Given the description of an element on the screen output the (x, y) to click on. 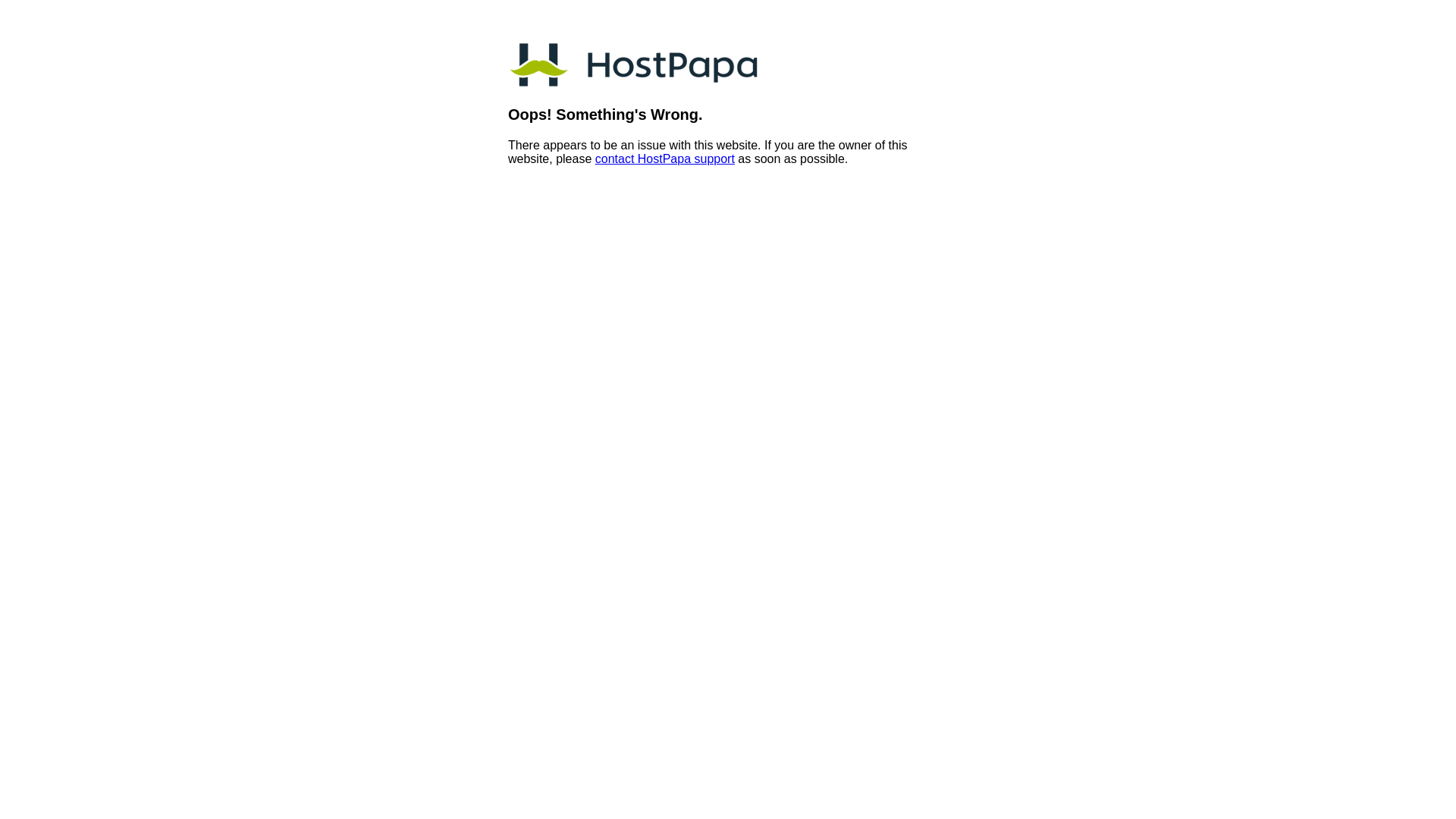
contact HostPapa support Element type: text (664, 158)
